Given the description of an element on the screen output the (x, y) to click on. 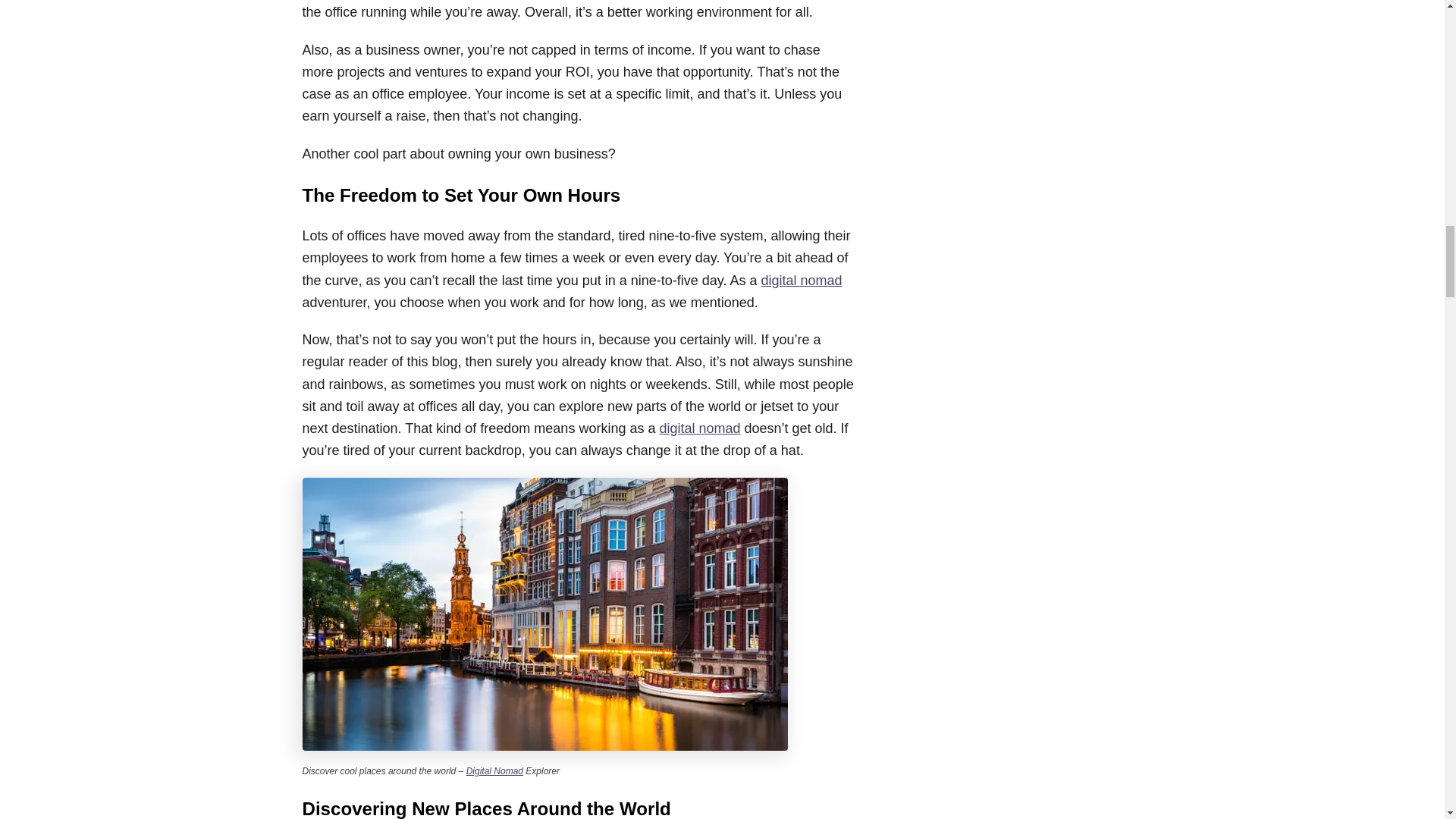
digital nomad (800, 280)
digital nomad (699, 427)
digital nomad (800, 280)
Digital Nomad (493, 770)
Digital Nomad (493, 770)
digital nomad (699, 427)
